Given the description of an element on the screen output the (x, y) to click on. 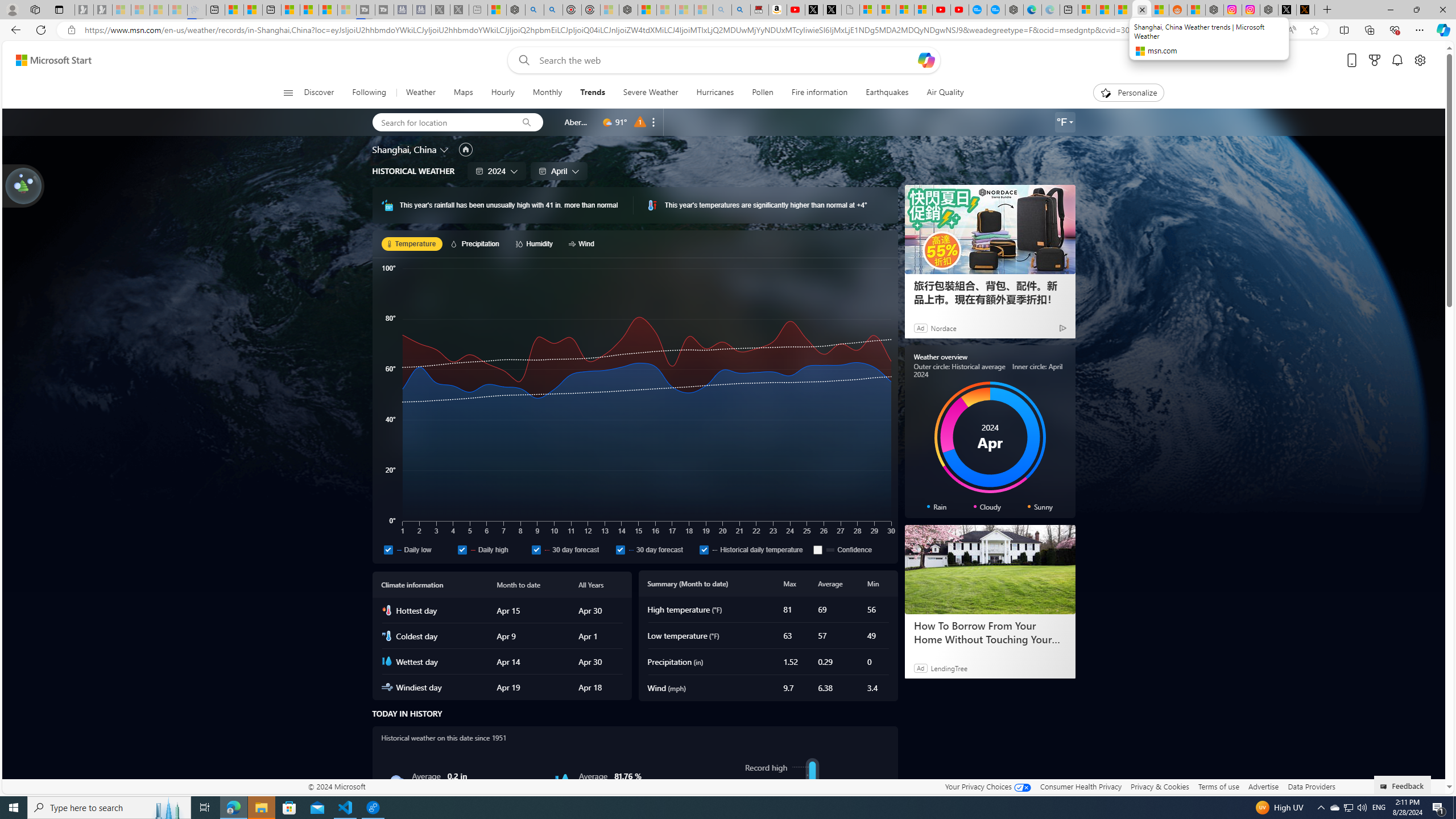
amazon - Search - Sleeping (721, 9)
Confidence (849, 549)
How To Borrow From Your Home Without Touching Your Mortgage (989, 569)
Join us in planting real trees to help our planet! (23, 185)
YouTube Kids - An App Created for Kids to Explore Content (960, 9)
Open settings (1420, 60)
Class: button-glyph (287, 92)
